Given the description of an element on the screen output the (x, y) to click on. 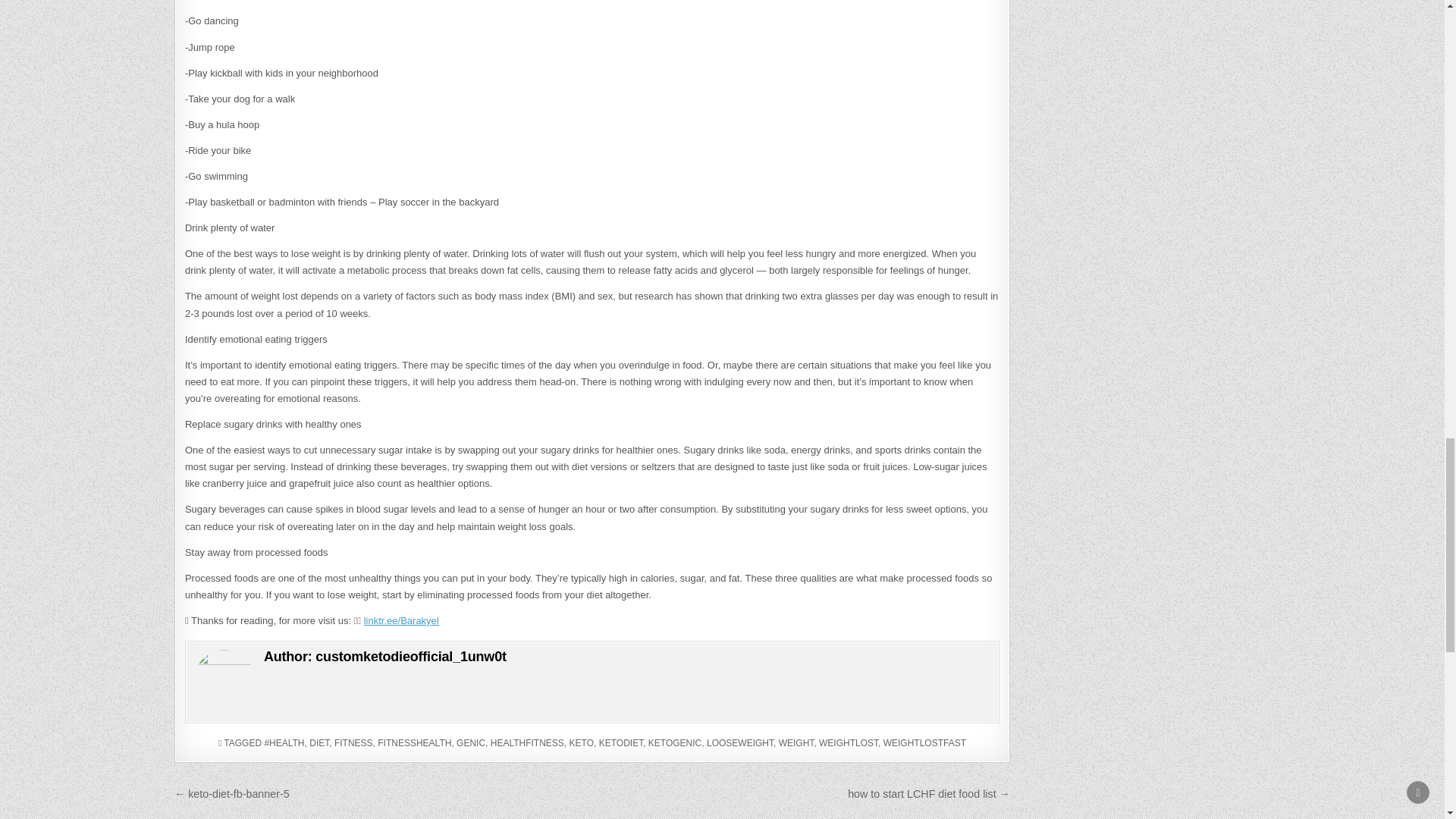
LOOSEWEIGHT (739, 742)
KETOGENIC (674, 742)
WEIGHT (795, 742)
WEIGHTLOSTFAST (924, 742)
KETODIET (620, 742)
FITNESSHEALTH (414, 742)
GENIC (470, 742)
DIET (318, 742)
KETO (581, 742)
WEIGHTLOST (847, 742)
